Given the description of an element on the screen output the (x, y) to click on. 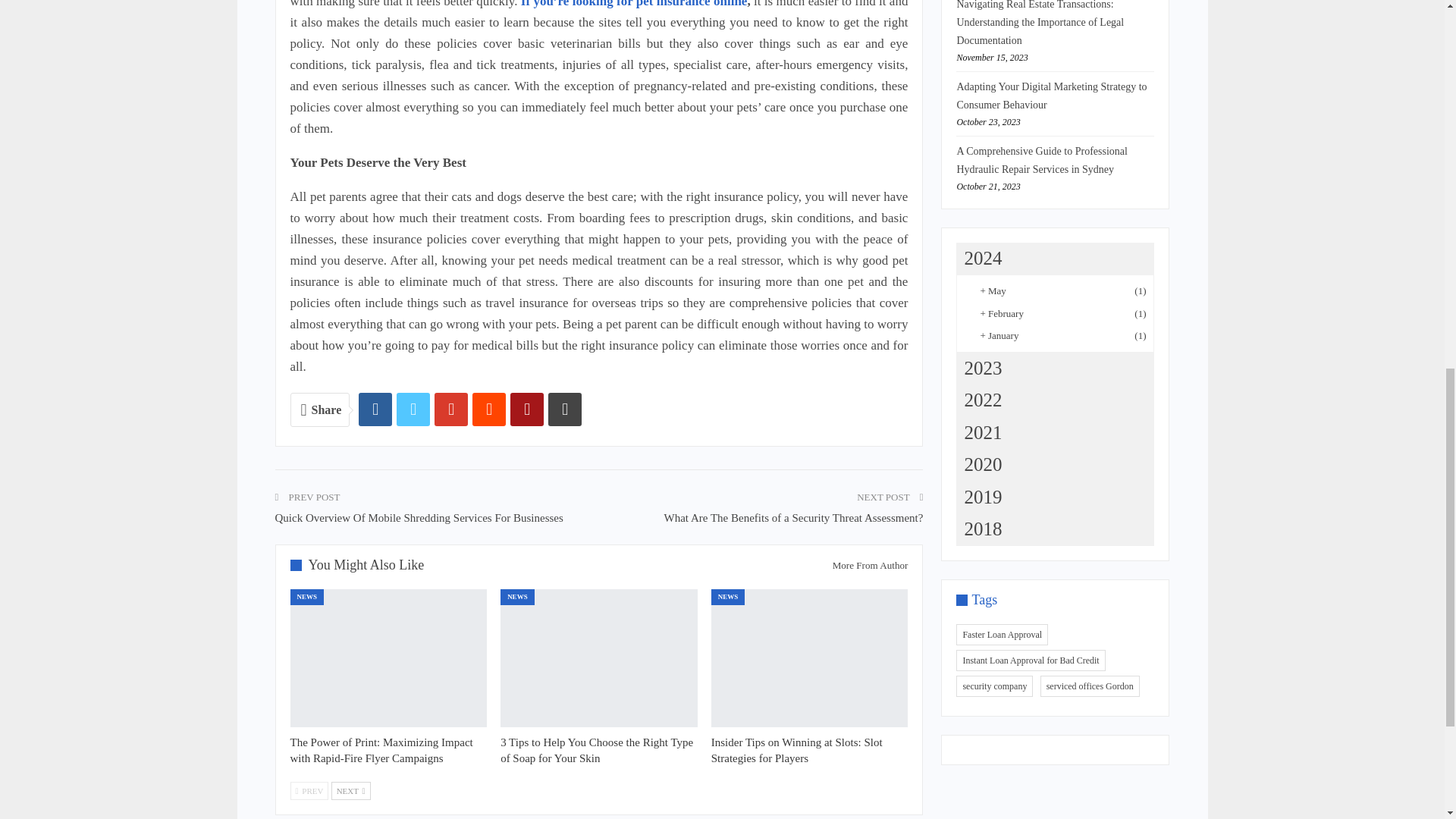
Next (351, 791)
Previous (309, 791)
